Given the description of an element on the screen output the (x, y) to click on. 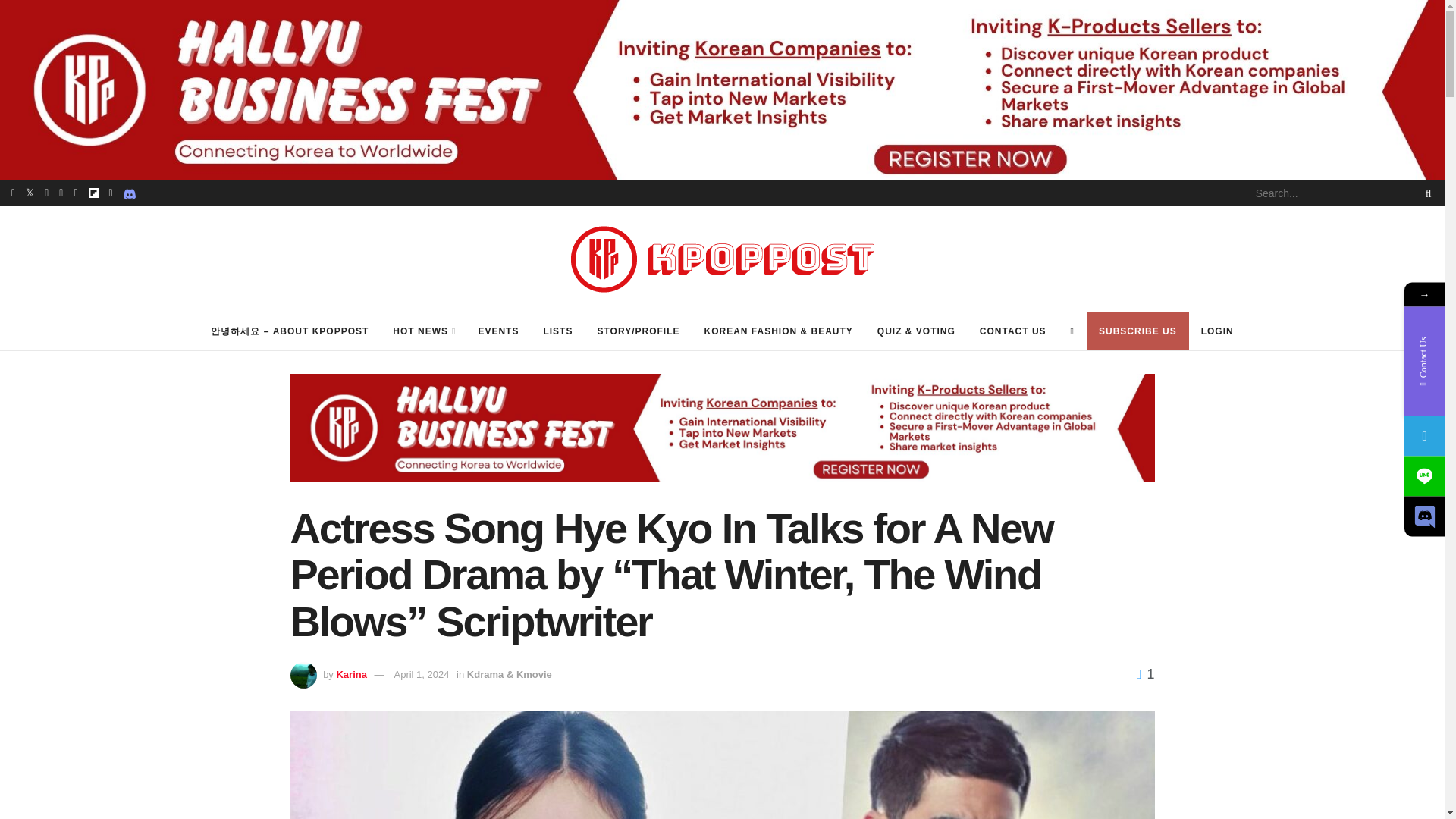
CONTACT US (1013, 331)
LISTS (558, 331)
SUBSCRIBE US (1137, 331)
EVENTS (498, 331)
HOT NEWS (422, 331)
LOGIN (1217, 331)
